Given the description of an element on the screen output the (x, y) to click on. 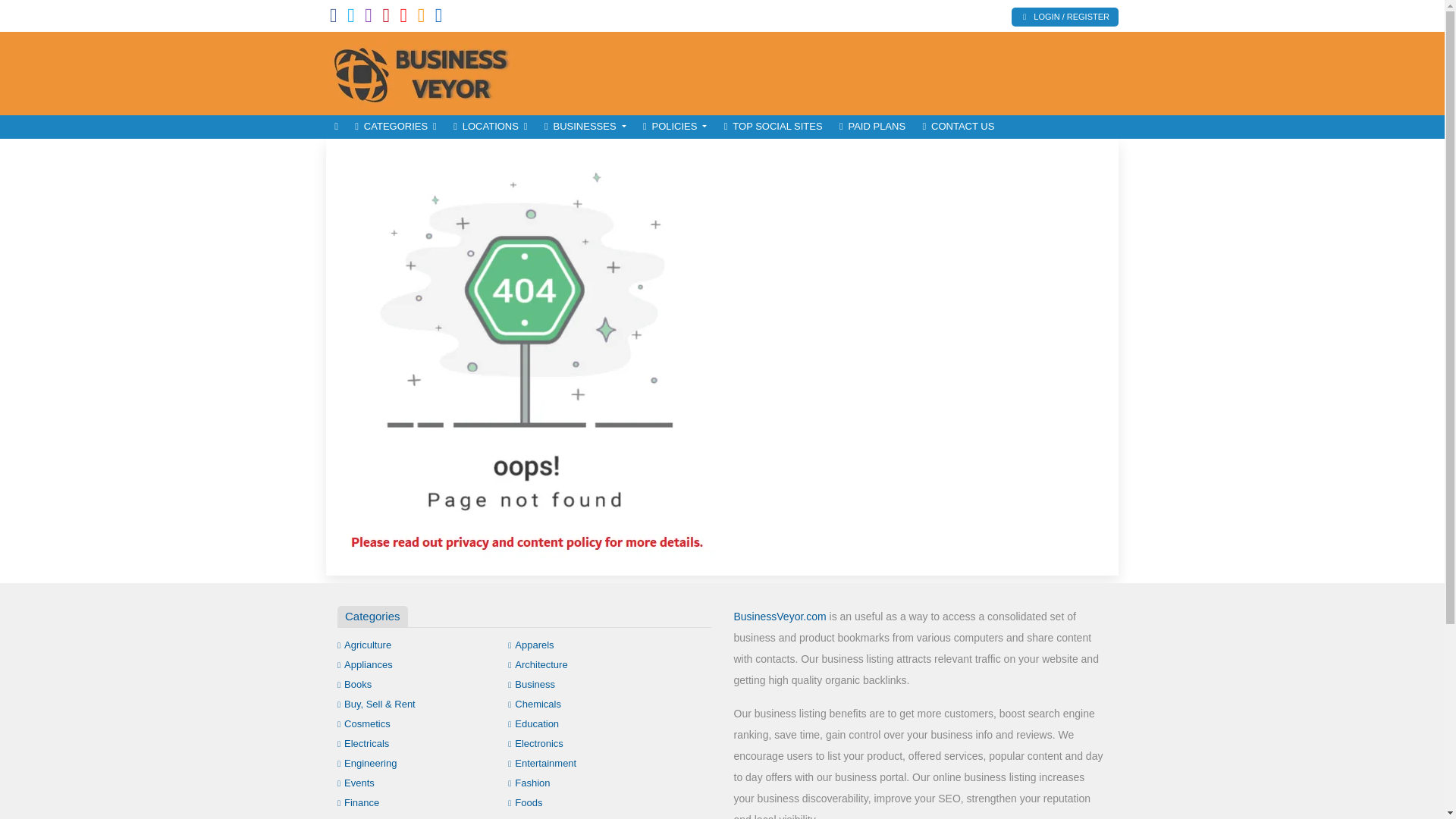
LOCATIONS (490, 126)
CATEGORIES (395, 126)
Transform Online Communities to Business Lead Generation (428, 71)
